Given the description of an element on the screen output the (x, y) to click on. 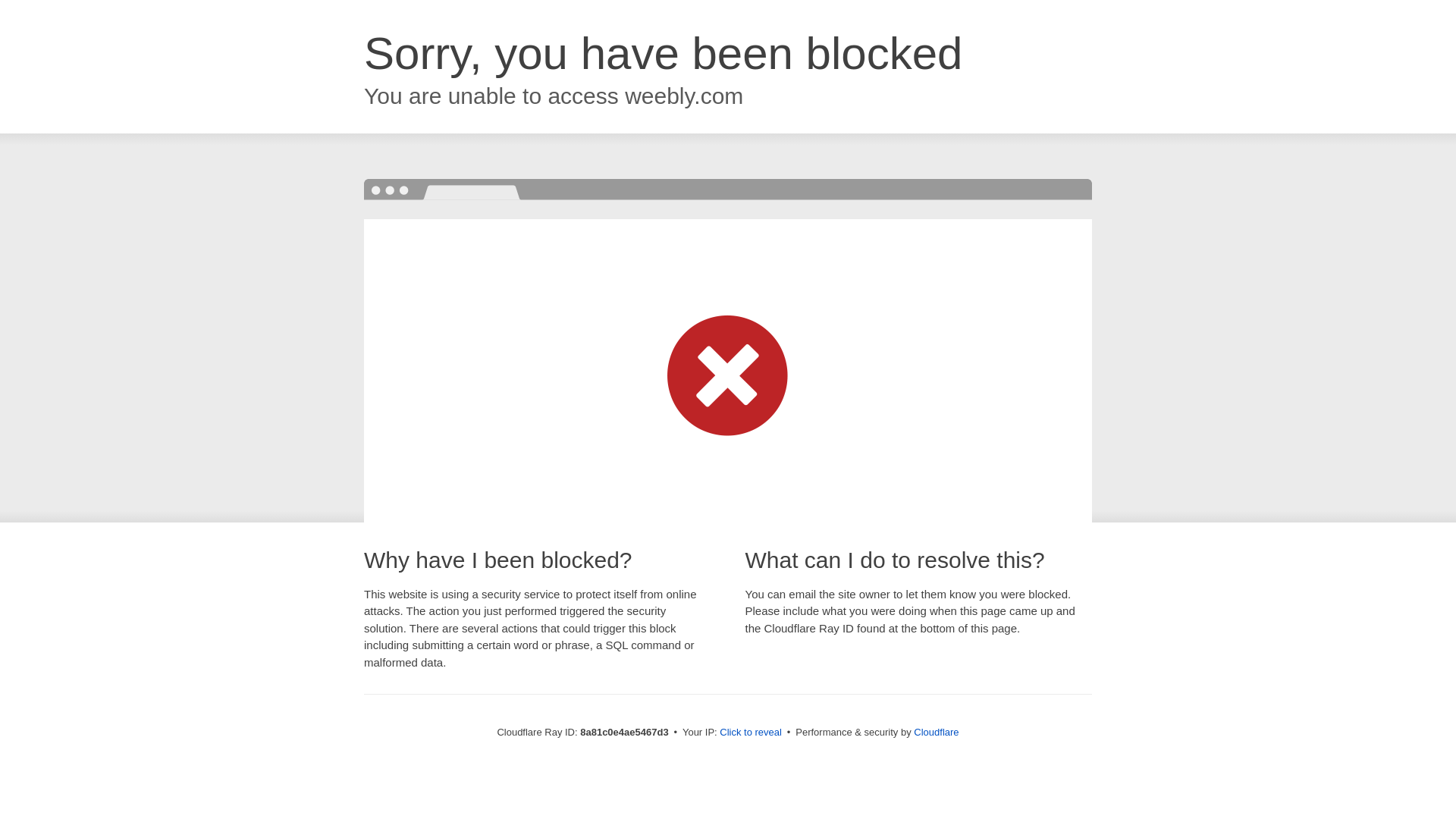
Click to reveal (750, 732)
Cloudflare (936, 731)
